Given the description of an element on the screen output the (x, y) to click on. 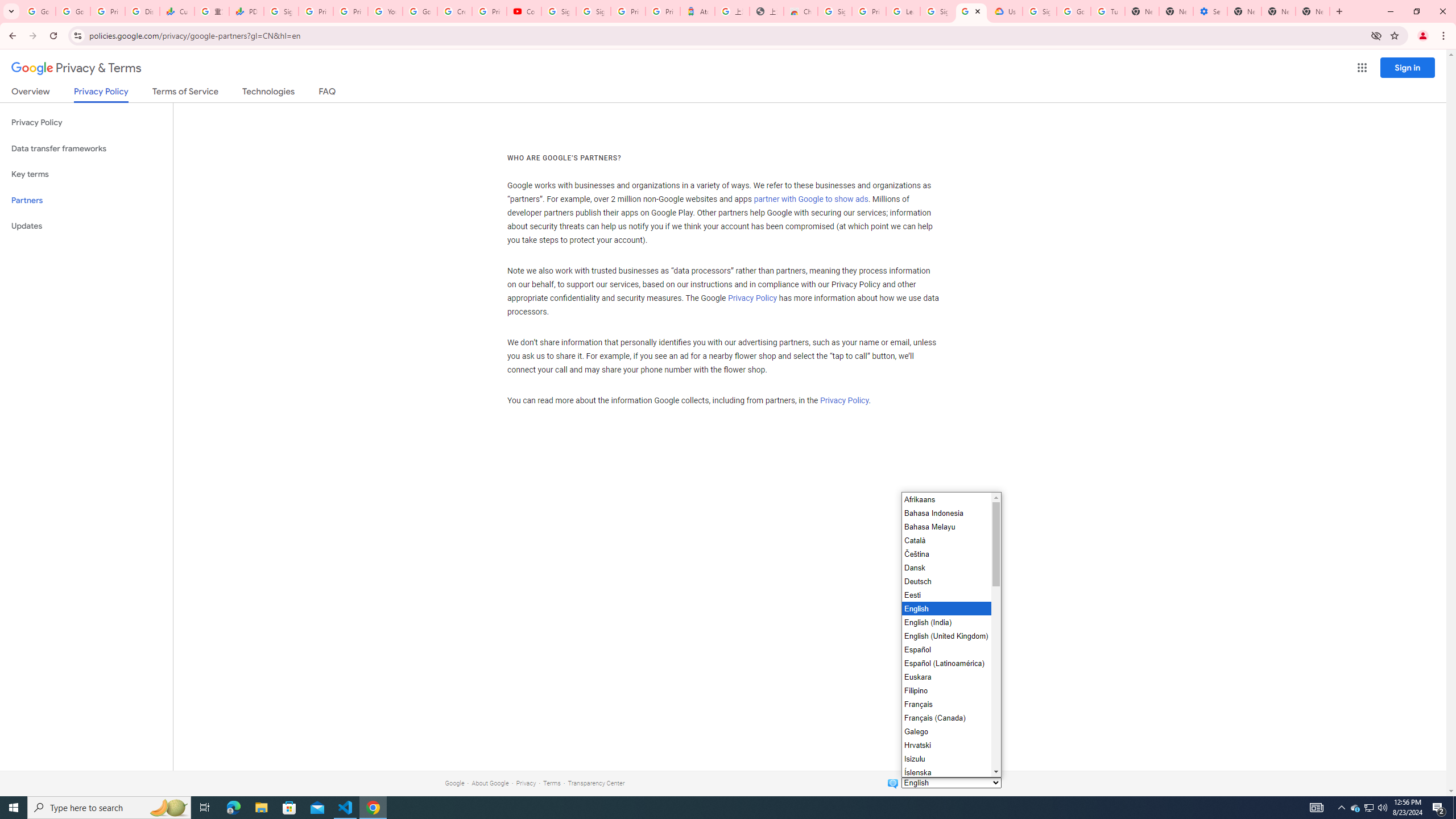
English (United Kingdom) (945, 635)
Afrikaans (945, 499)
About Google (490, 783)
English (India) (945, 621)
Chrome Web Store - Color themes by Chrome (800, 11)
Currencies - Google Finance (176, 11)
Privacy Checkup (349, 11)
Bahasa Melayu (945, 526)
